Given the description of an element on the screen output the (x, y) to click on. 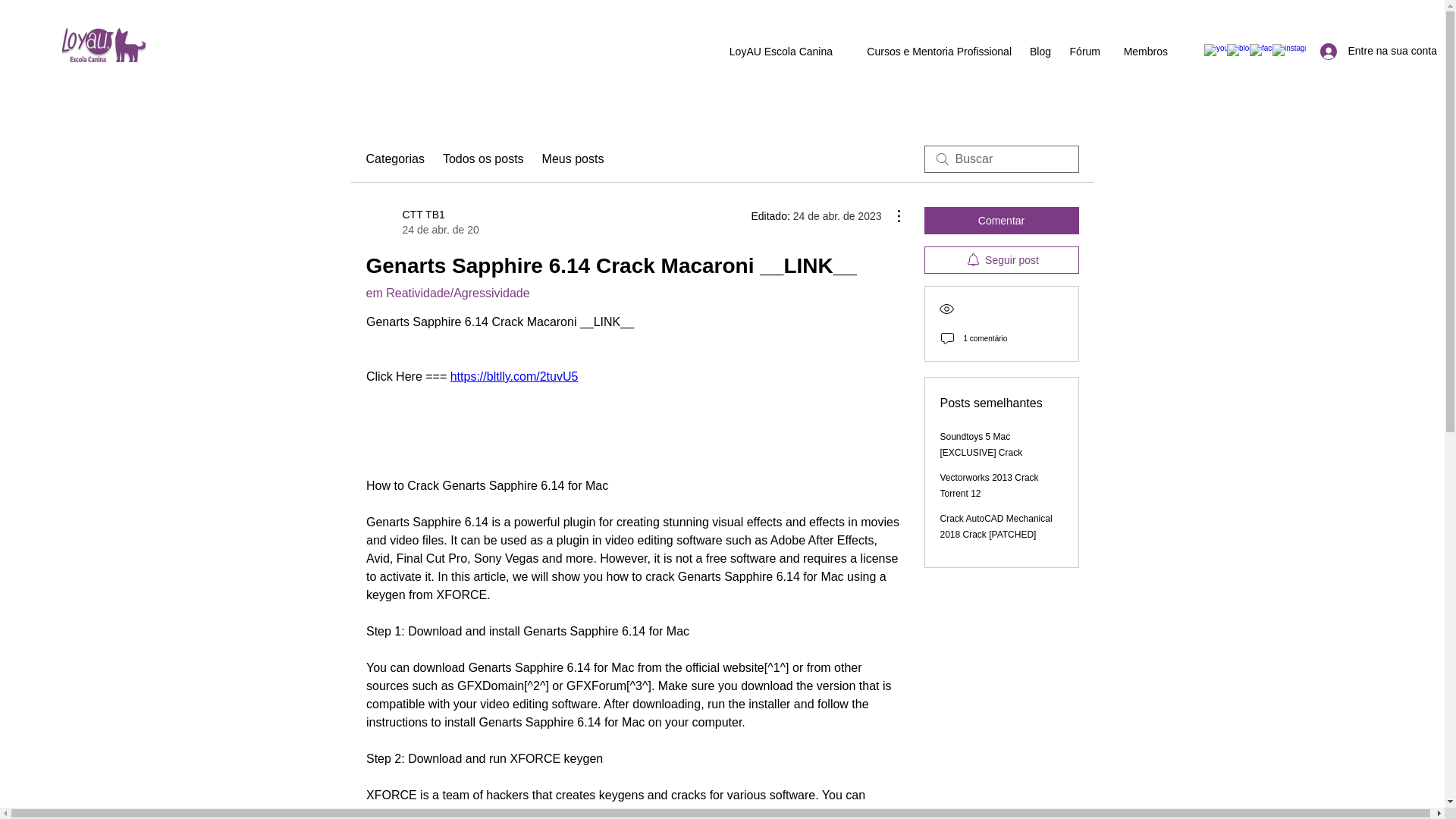
Meus posts (572, 158)
Membros (1141, 51)
Blog (1038, 51)
Cursos e Mentoria Profissional (929, 51)
Comentar (1000, 220)
Vectorworks 2013 Crack Torrent 12 (421, 222)
Categorias (989, 485)
Seguir post (394, 158)
LoyAU Escola Canina (1000, 259)
Todos os posts (776, 51)
